Given the description of an element on the screen output the (x, y) to click on. 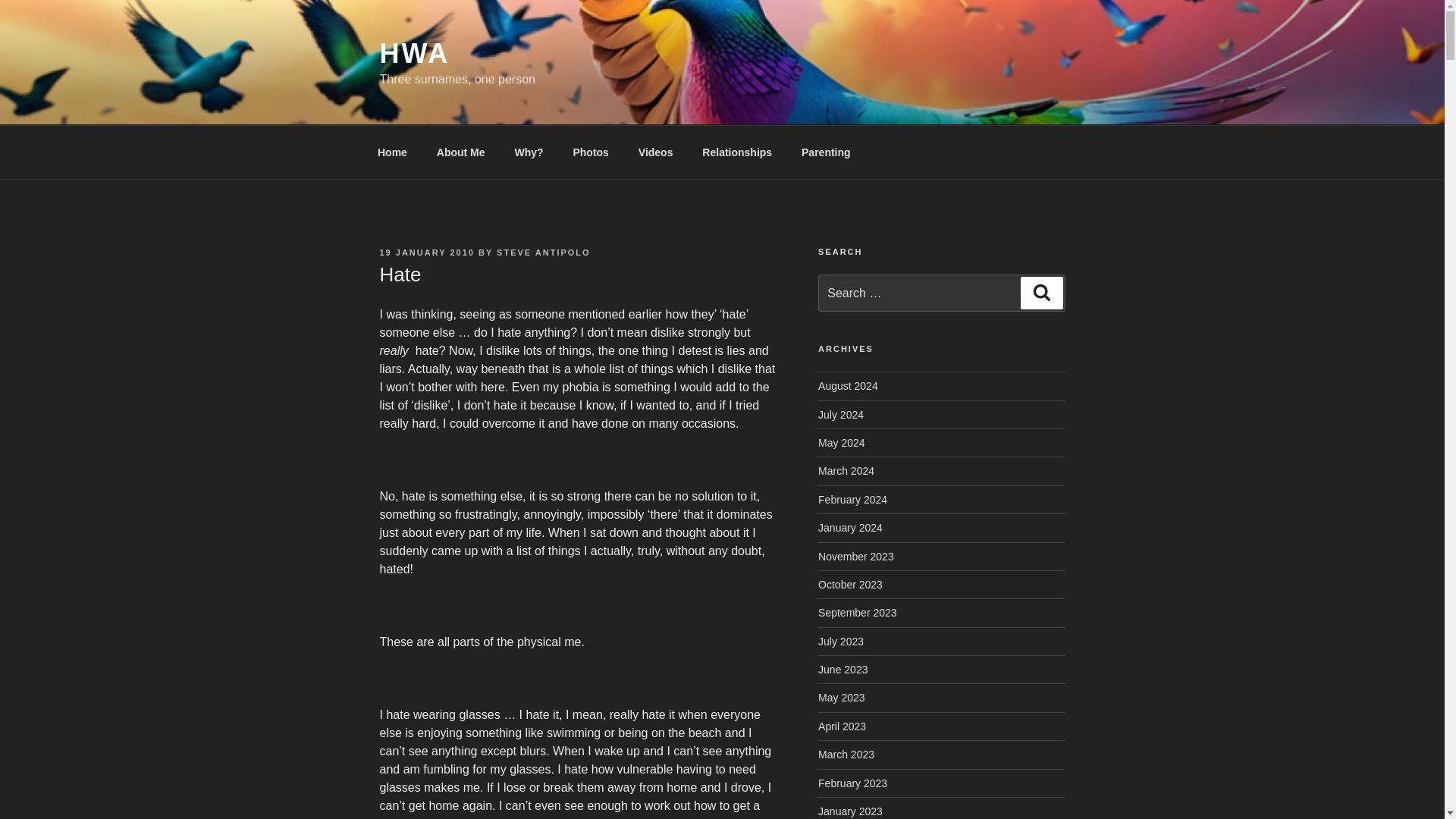
April 2023 (842, 726)
Photos (590, 151)
October 2023 (850, 584)
Search (1041, 292)
March 2023 (846, 754)
November 2023 (855, 556)
June 2023 (842, 669)
Why? (528, 151)
May 2023 (841, 697)
Home (392, 151)
